Given the description of an element on the screen output the (x, y) to click on. 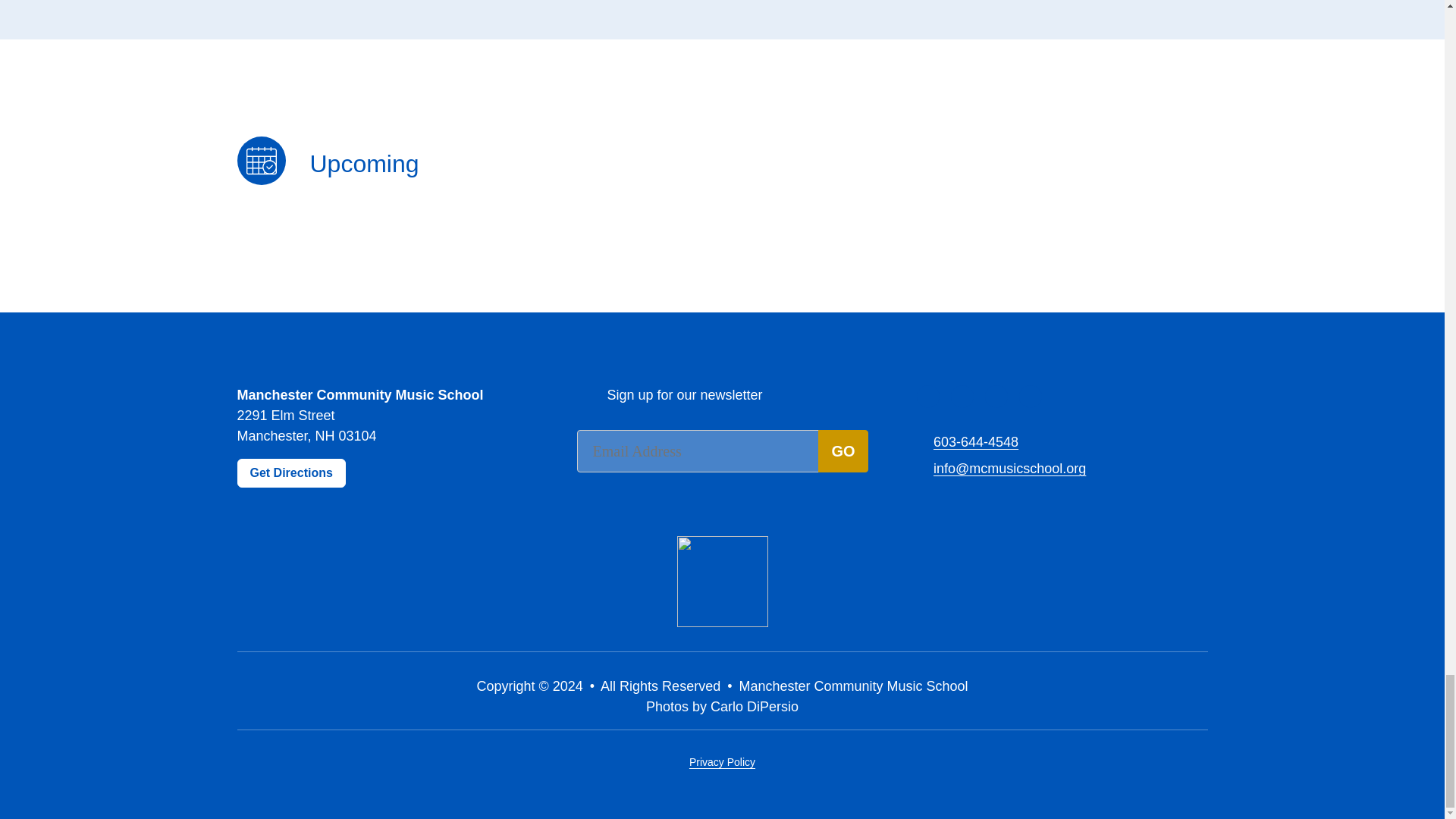
GO (842, 450)
